Given the description of an element on the screen output the (x, y) to click on. 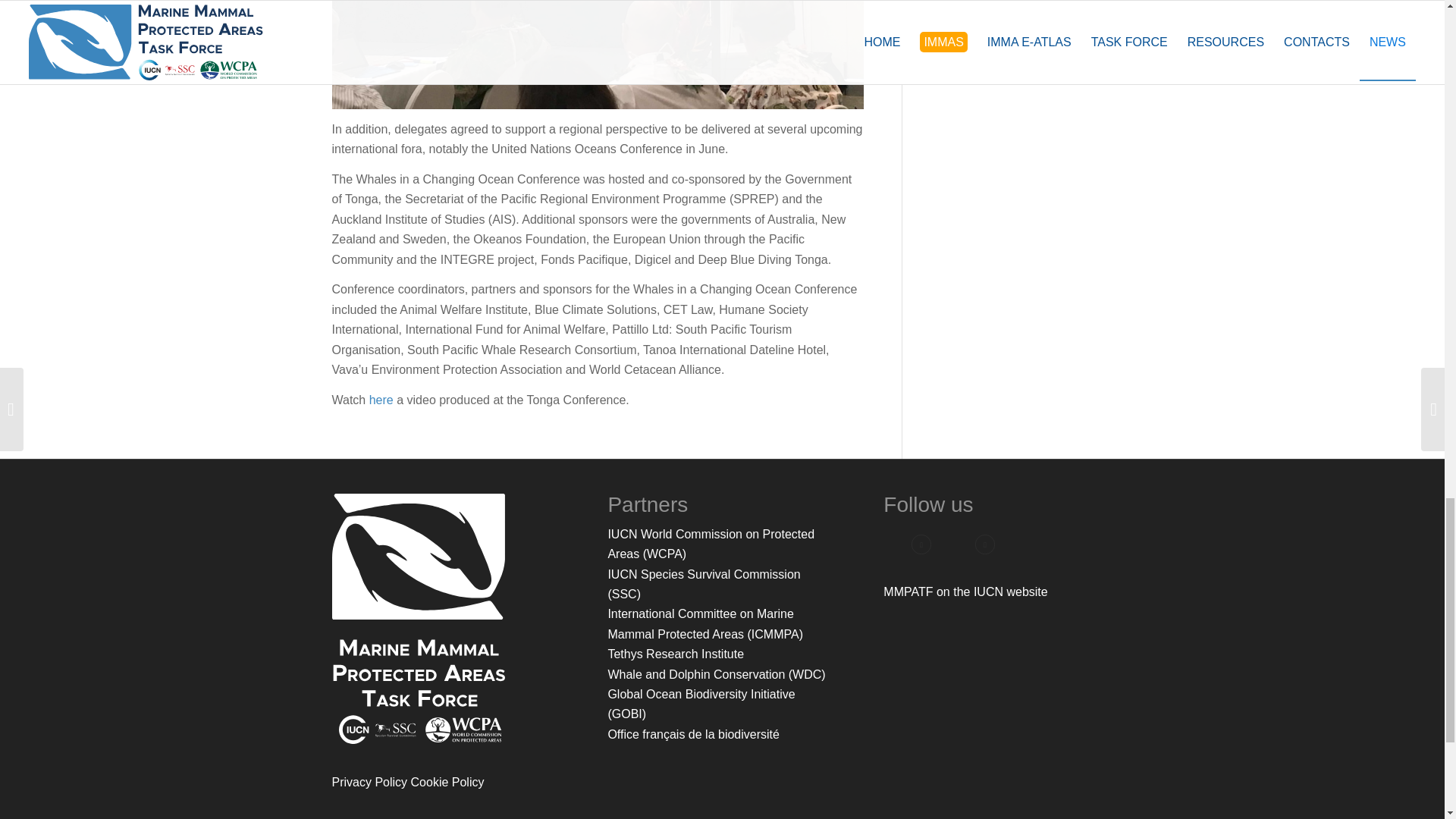
Cookie Policy (447, 781)
Privacy Policy (369, 781)
